Given the description of an element on the screen output the (x, y) to click on. 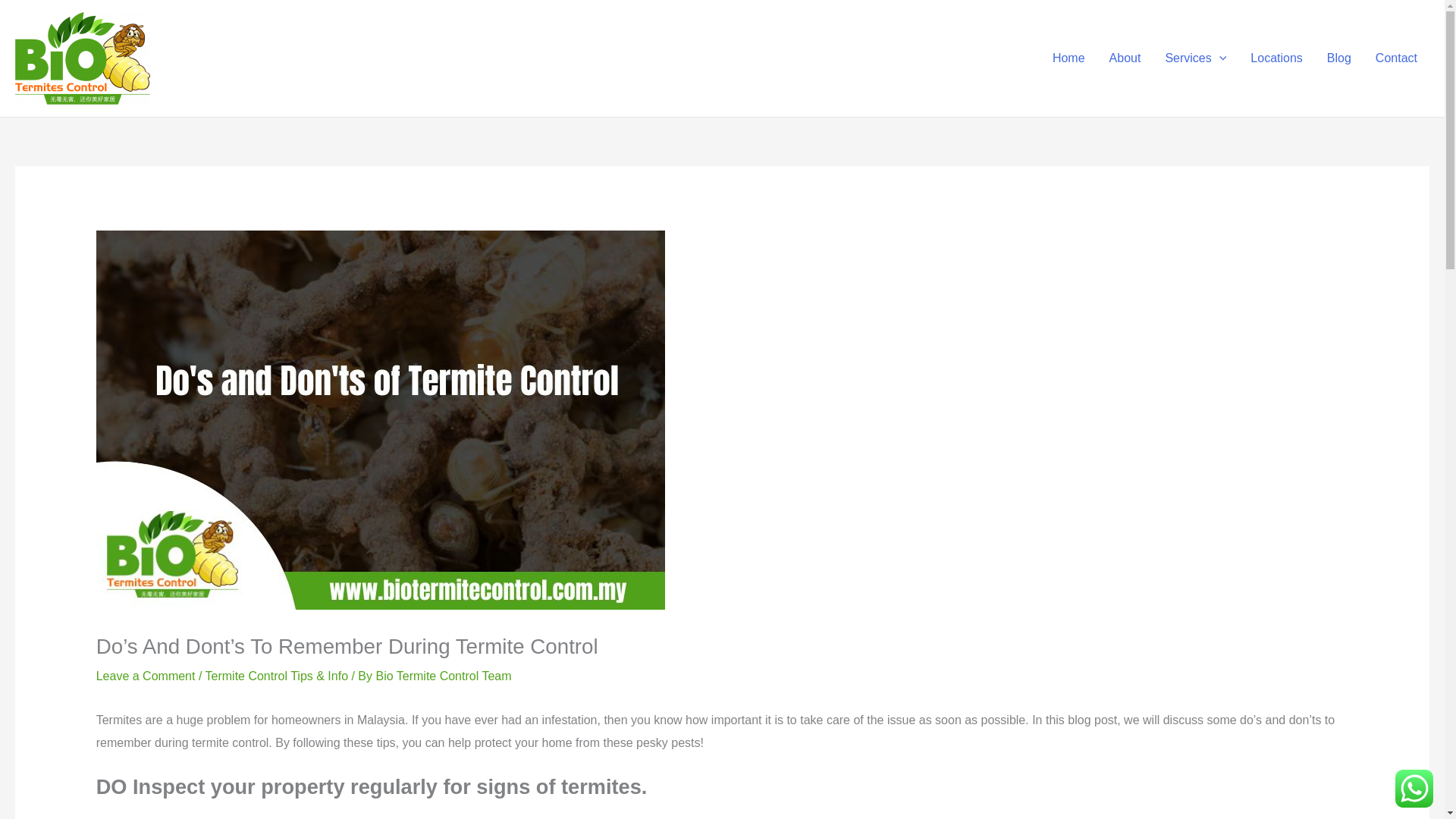
Bio Termite Control Team (443, 675)
Contact (1395, 57)
Home (1069, 57)
Blog (1338, 57)
About (1125, 57)
Services (1196, 57)
Leave a Comment (145, 675)
View all posts by Bio Termite Control Team (443, 675)
Locations (1276, 57)
